Given the description of an element on the screen output the (x, y) to click on. 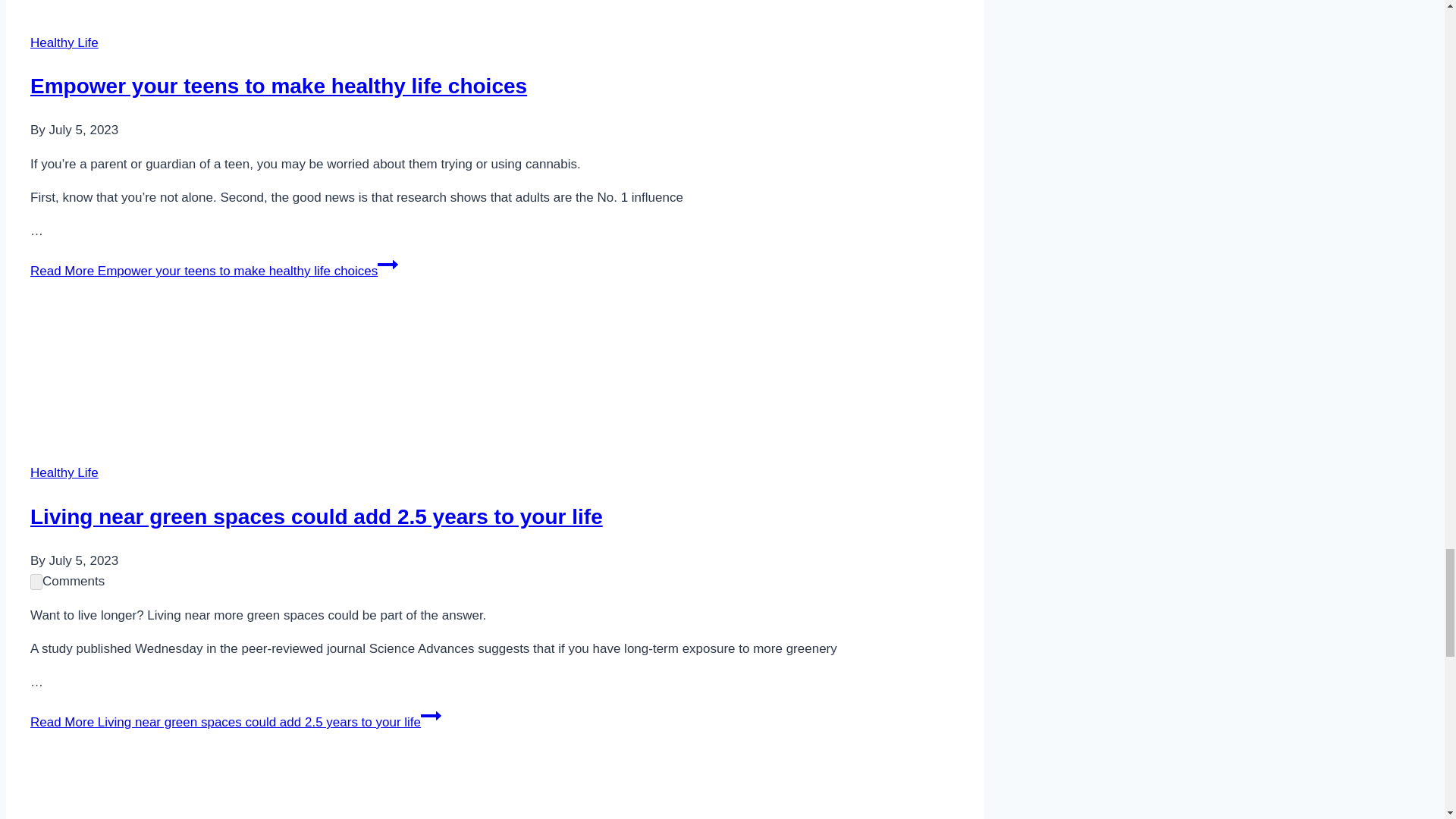
Continue (430, 715)
Living near green spaces could add 2.5 years to your life (296, 375)
Continue (387, 264)
